Given the description of an element on the screen output the (x, y) to click on. 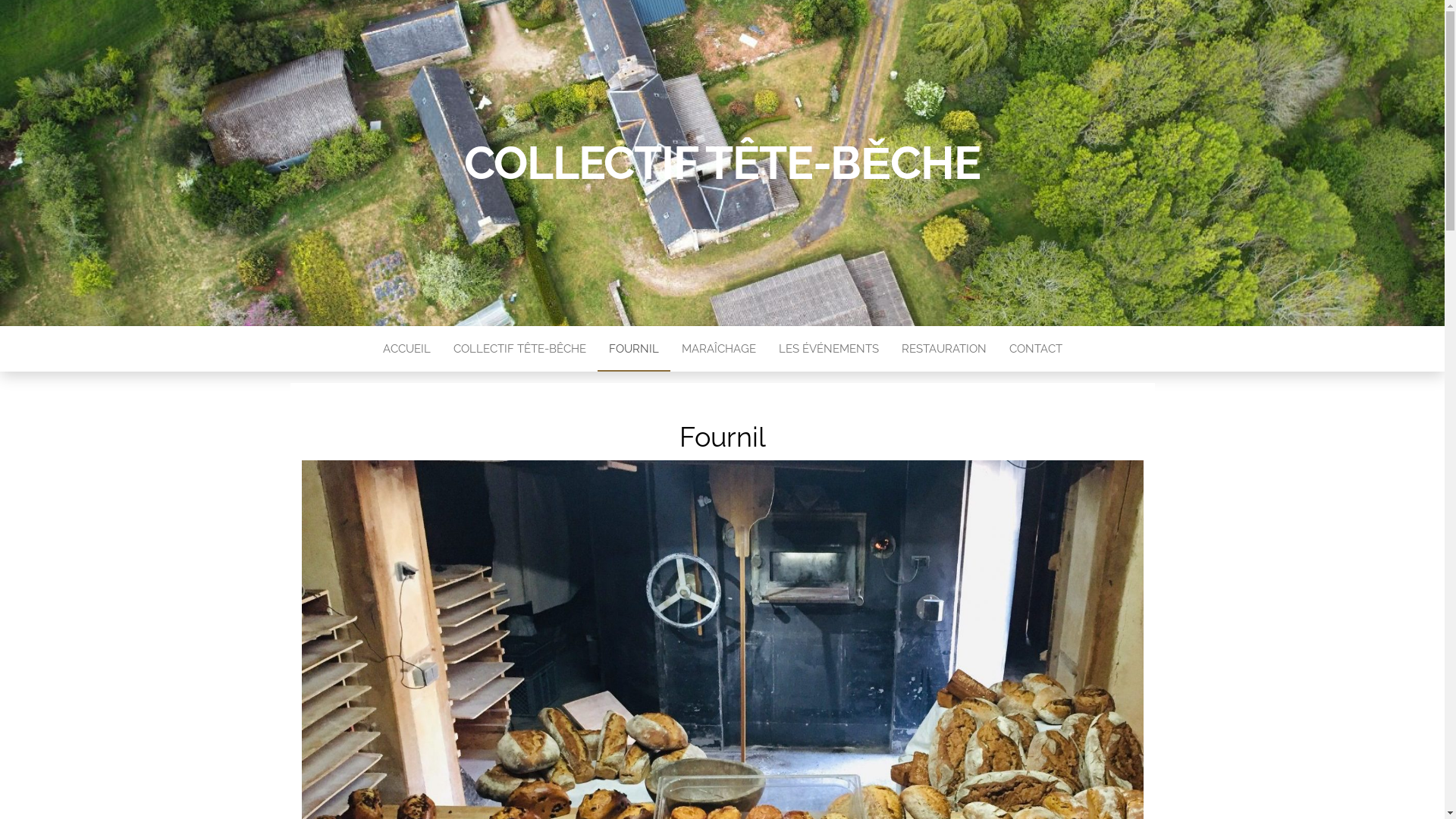
ACCUEIL Element type: text (406, 348)
FOURNIL Element type: text (633, 348)
CONTACT Element type: text (1035, 348)
RESTAURATION Element type: text (943, 348)
